Given the description of an element on the screen output the (x, y) to click on. 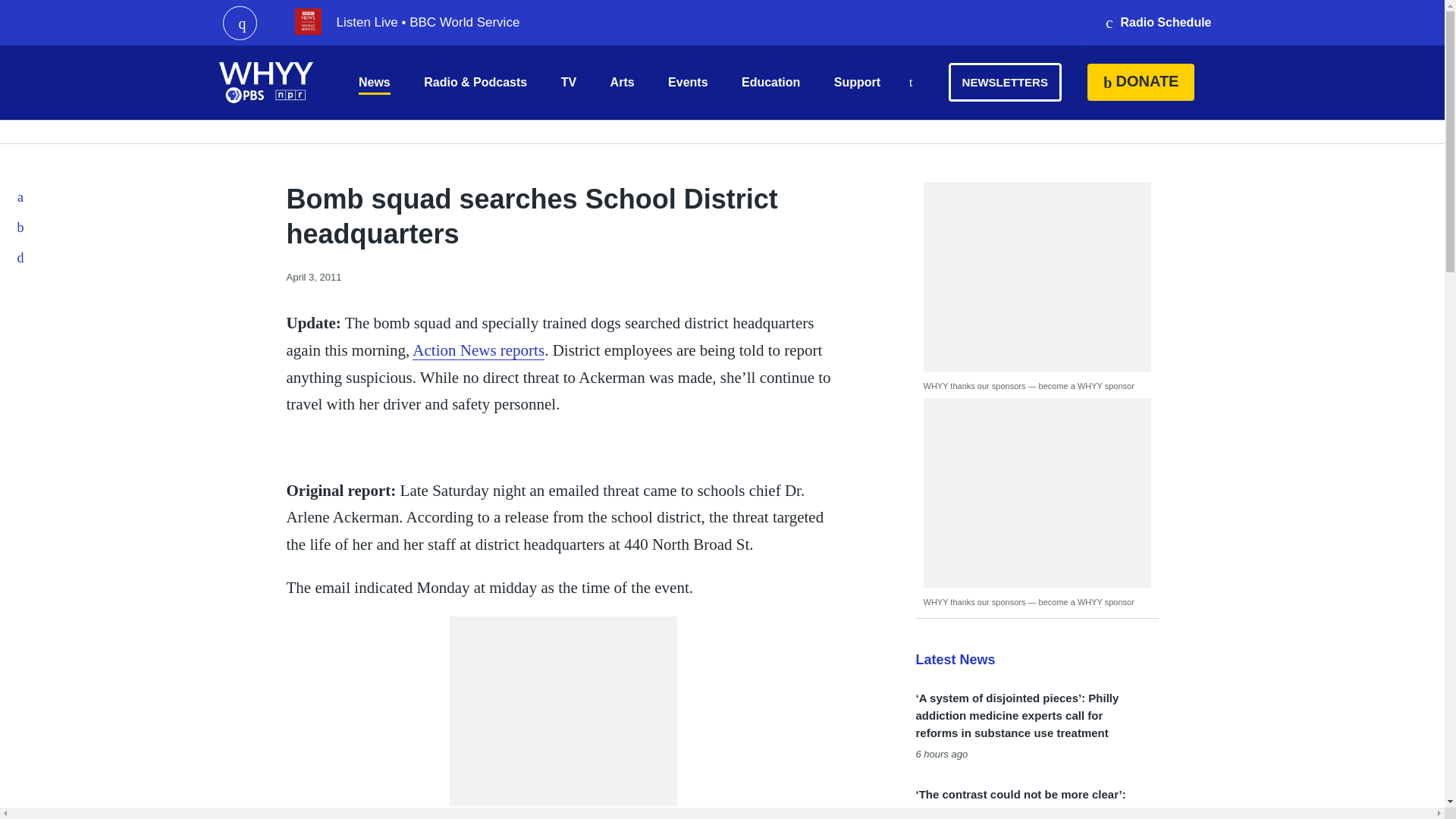
3rd party ad content (562, 710)
News (374, 81)
3rd party ad content (1037, 493)
Events (687, 81)
Search (910, 83)
Twitter (21, 227)
Facebook (21, 196)
WHYY (266, 82)
Email (21, 257)
TV (568, 81)
Twitter (21, 227)
Radio Schedule (1157, 22)
Support (857, 81)
Facebook (21, 196)
Arts (622, 81)
